Given the description of an element on the screen output the (x, y) to click on. 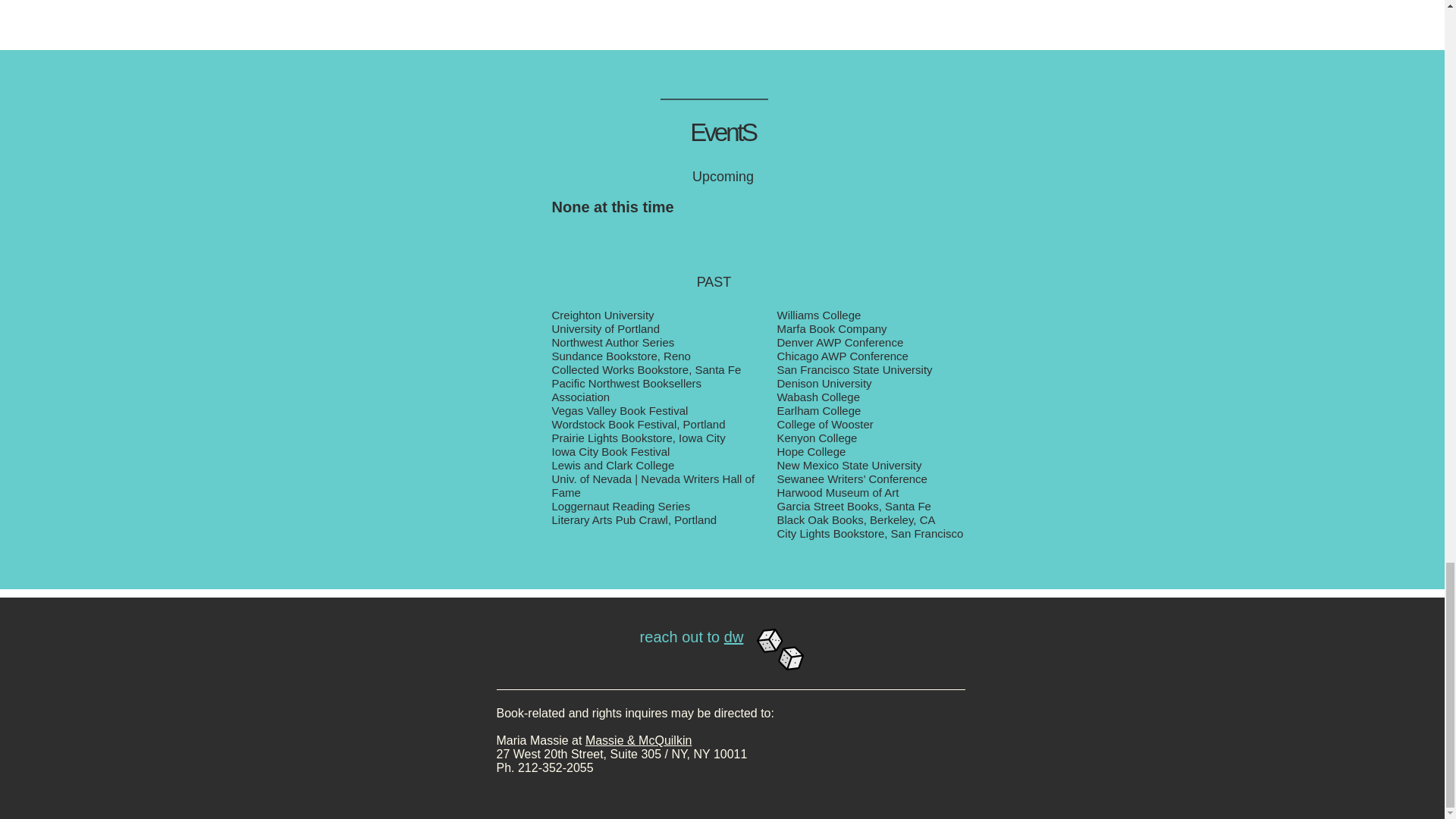
dw (733, 636)
